Given the description of an element on the screen output the (x, y) to click on. 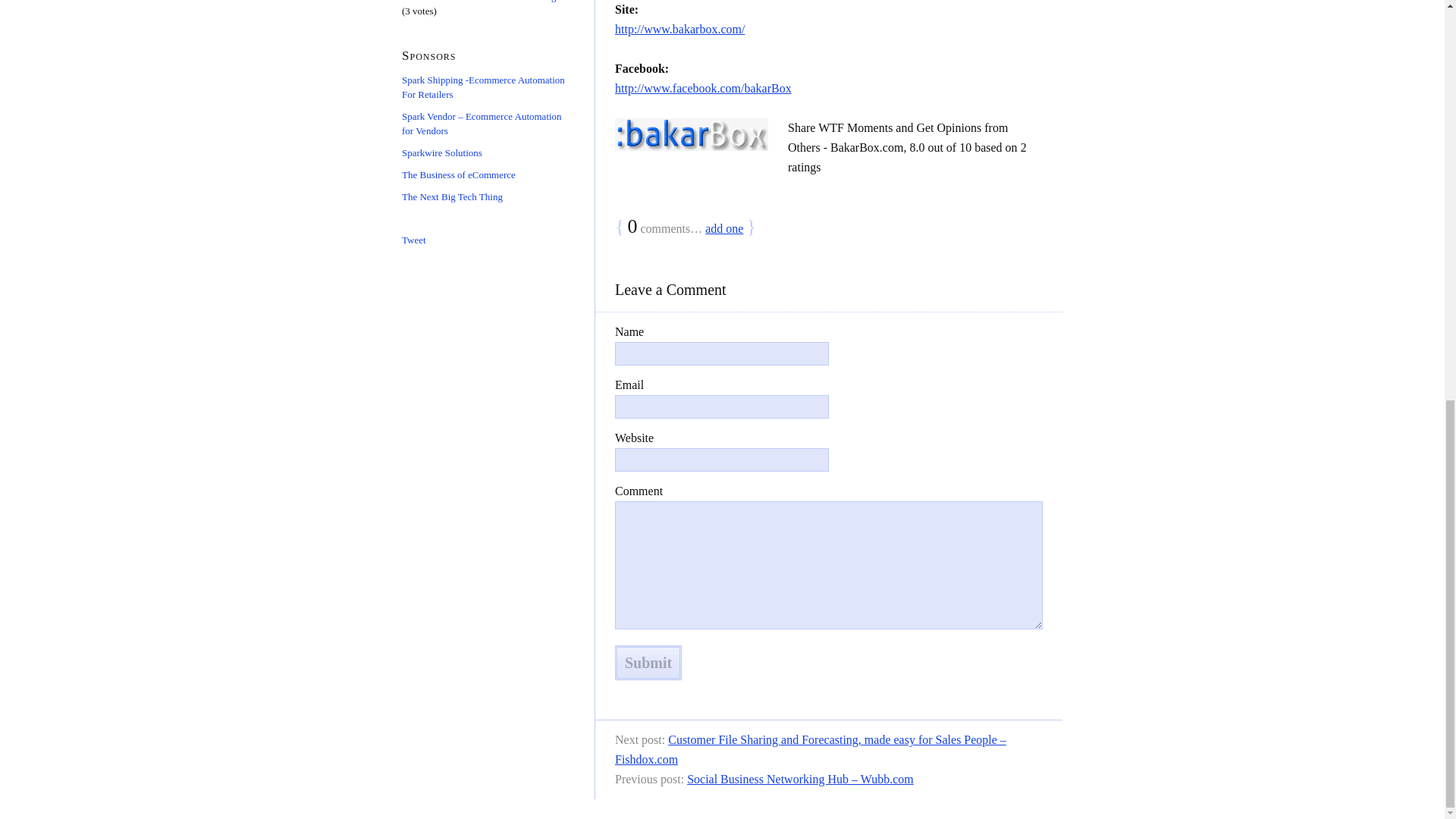
The Next Big Tech Thing (451, 196)
Spark Shipping -Ecommerce Automation For Retailers (482, 86)
Sparkwire Solutions (441, 152)
add one (723, 227)
CLmetrics.com - Hit Counter for Craigslist (486, 1)
Submit (647, 662)
Submit (647, 662)
The Business of eCommerce (458, 173)
